Given the description of an element on the screen output the (x, y) to click on. 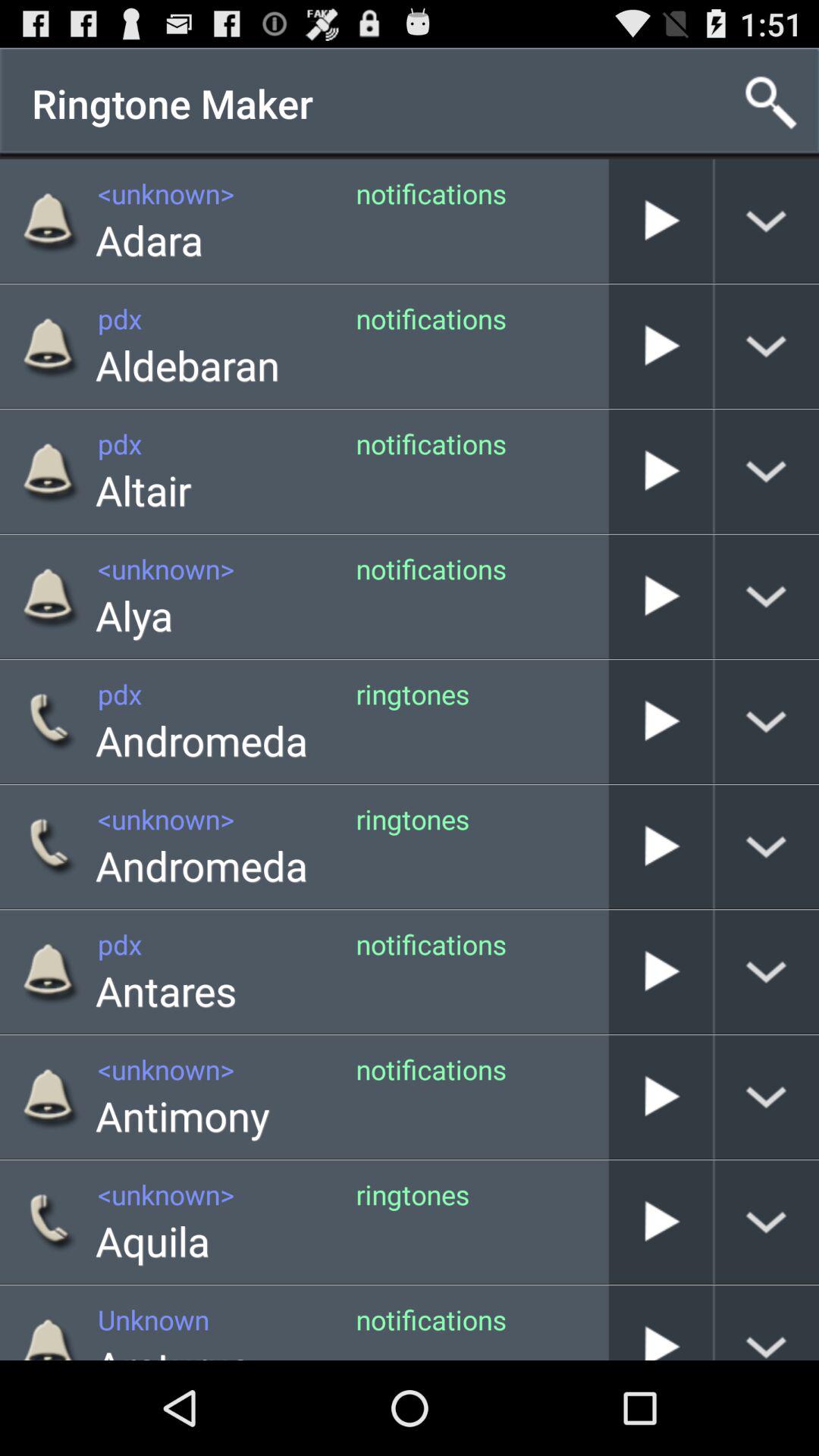
play sound (660, 596)
